Given the description of an element on the screen output the (x, y) to click on. 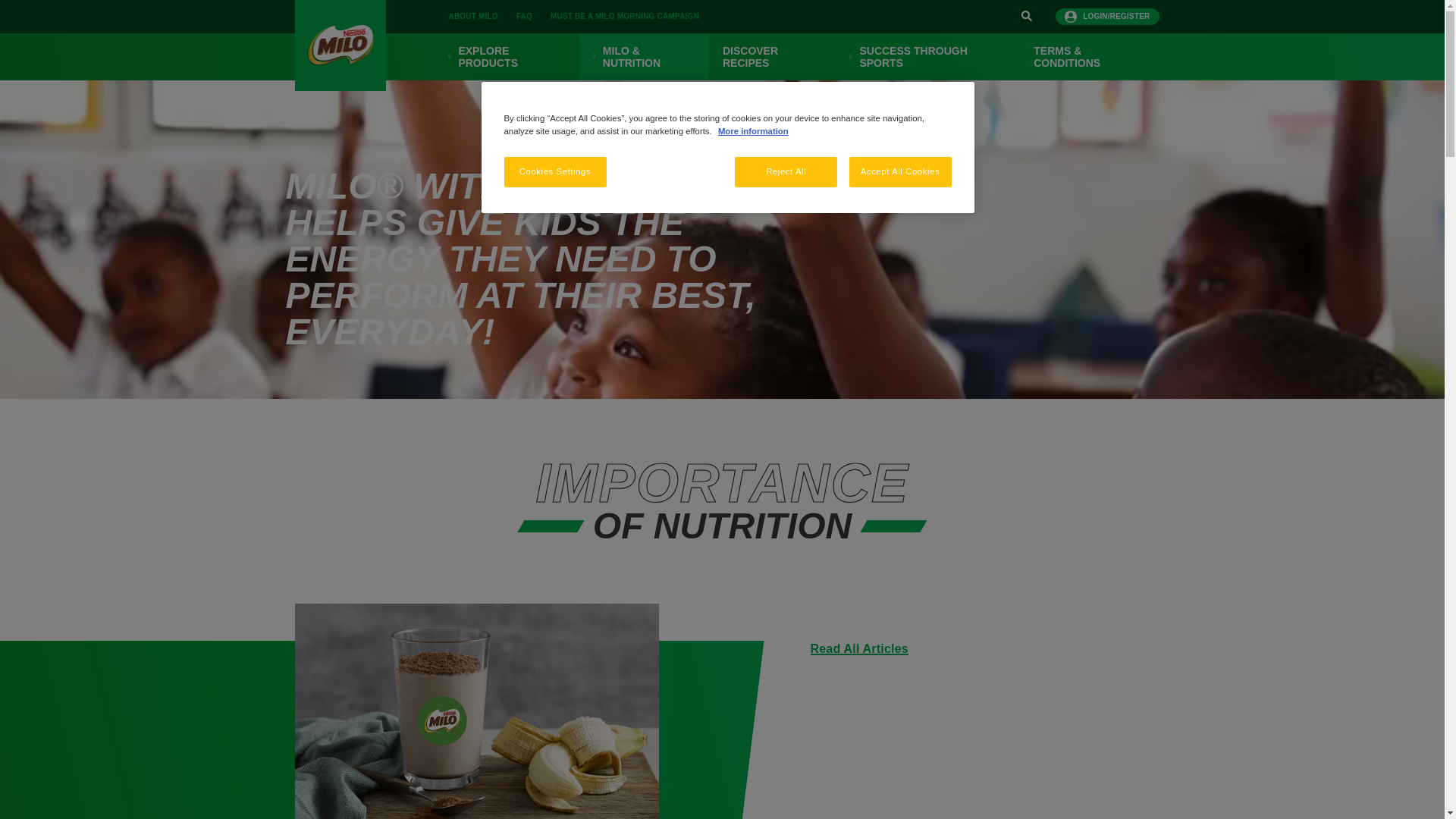
EXPLORE PRODUCTS (507, 56)
SUCCESS THROUGH SPORTS (927, 56)
EXPLORE PRODUCTS (507, 56)
FAQ (523, 16)
Read All Articles (858, 648)
SUCCESS THROUGH SPORTS (927, 56)
MUST BE A MILO MORNING CAMPAIGN (624, 16)
DISCOVER RECIPES (772, 56)
ABOUT MILO (472, 16)
DISCOVER RECIPES (772, 56)
